Given the description of an element on the screen output the (x, y) to click on. 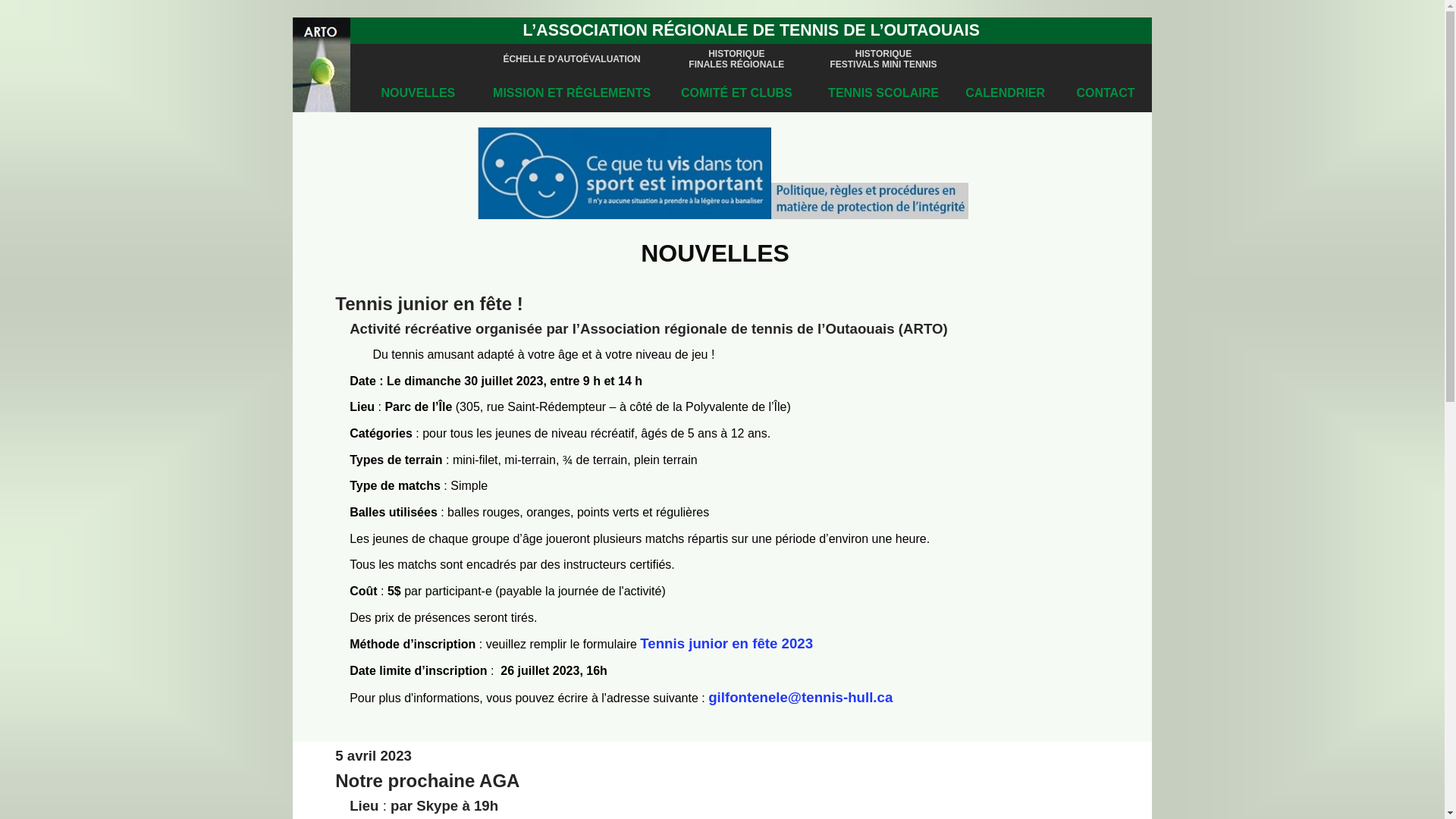
CONTACT Element type: text (1105, 92)
CALENDRIER Element type: text (1004, 92)
NOUVELLES Element type: text (417, 92)
HISTORIQUE Element type: text (736, 52)
HISTORIQUE Element type: text (883, 52)
TENNIS SCOLAIRE Element type: text (883, 92)
gilfontenele@tennis-hull.ca Element type: text (800, 696)
FESTIVALS MINI TENNIS Element type: text (882, 62)
